Given the description of an element on the screen output the (x, y) to click on. 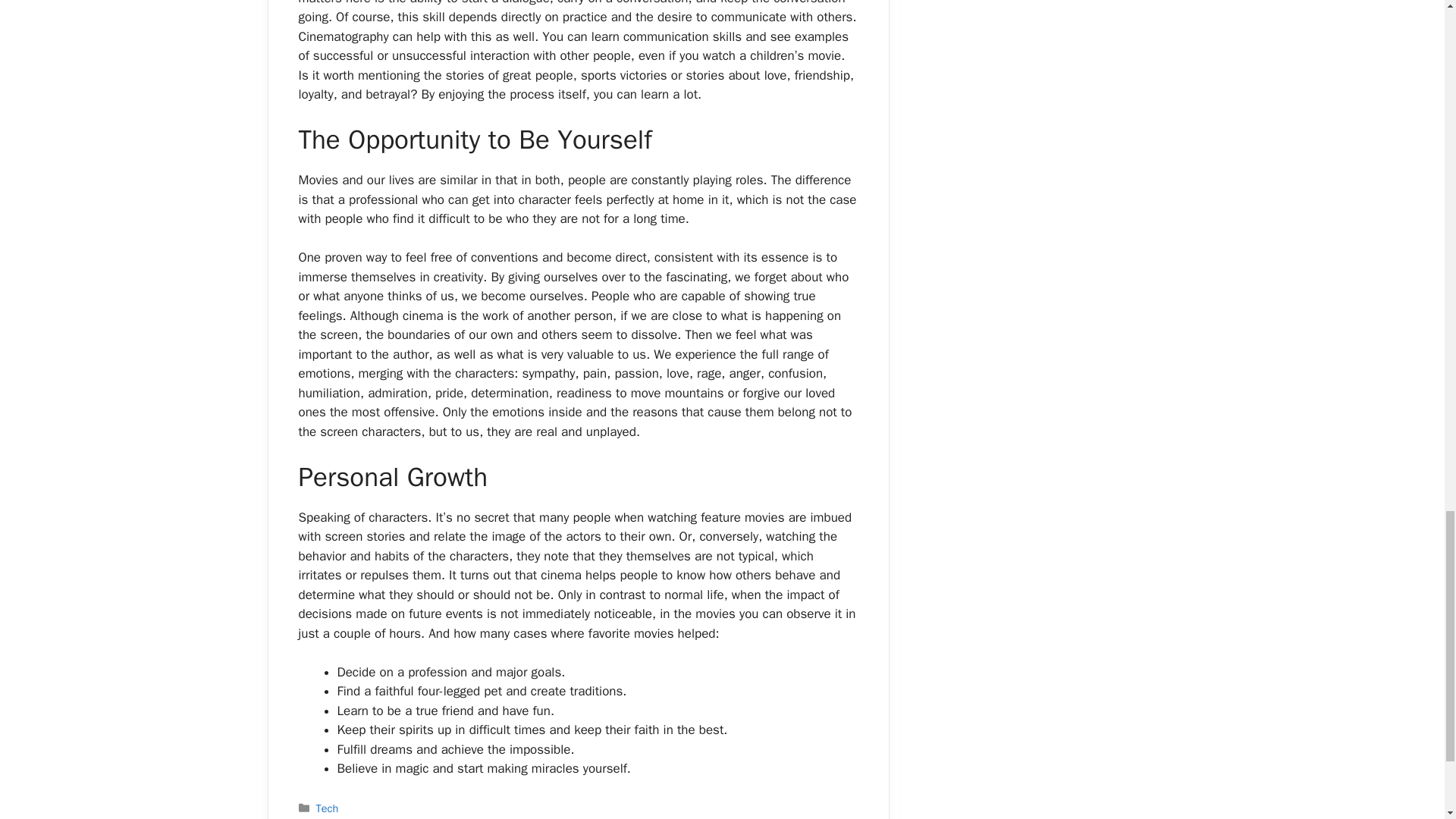
Tech (327, 807)
